Given the description of an element on the screen output the (x, y) to click on. 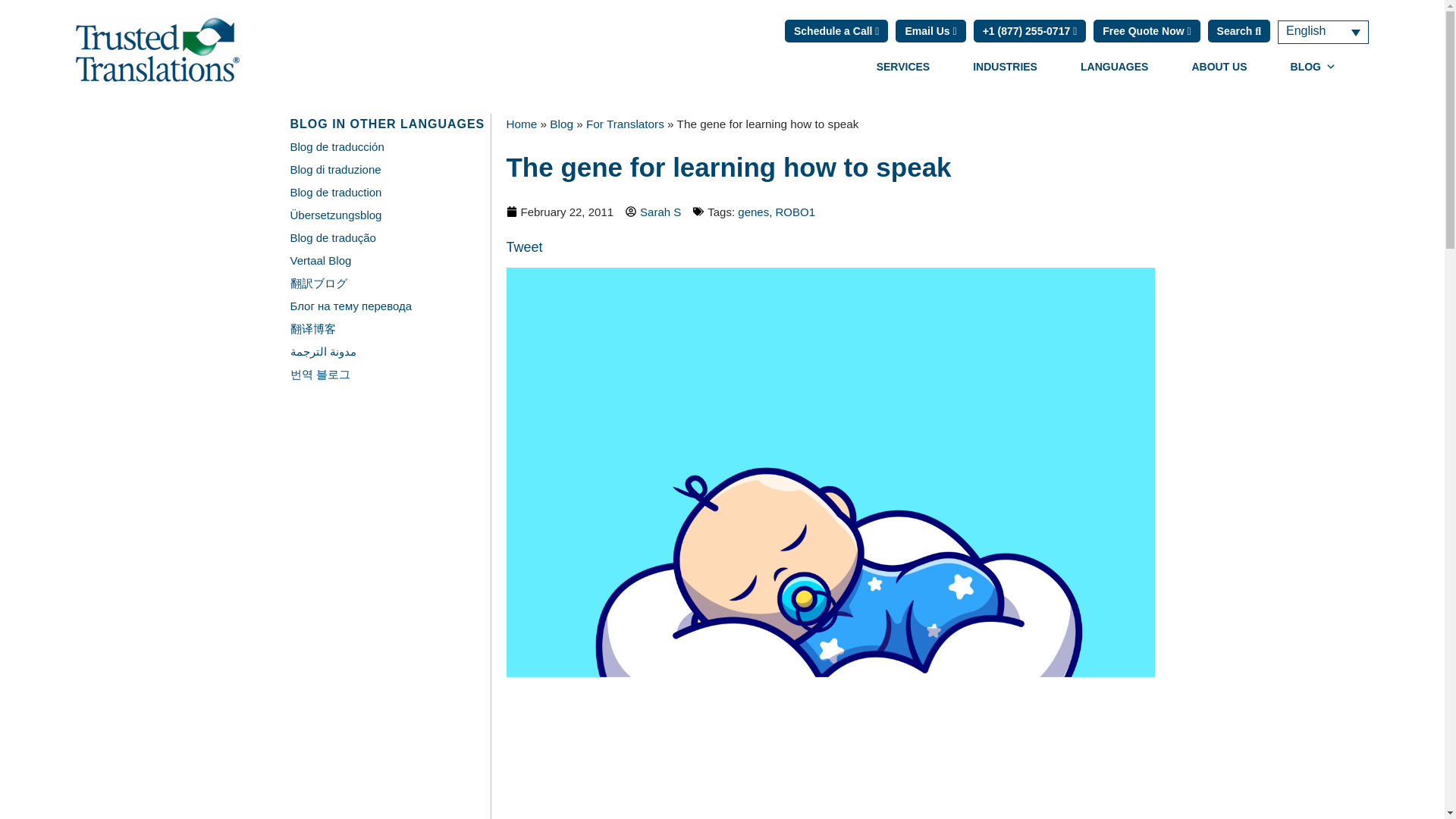
BLOG (1312, 66)
Free Quote Now (1146, 30)
Vertaal Blog (319, 259)
Blog (561, 123)
Home (521, 123)
Email Us (930, 30)
English (1323, 31)
SERVICES (903, 66)
INDUSTRIES (1005, 66)
For Translators (624, 123)
Sarah S (653, 211)
Blog di traduzione (334, 169)
Search (1238, 30)
LANGUAGES (1114, 66)
ABOUT US (1218, 66)
